Given the description of an element on the screen output the (x, y) to click on. 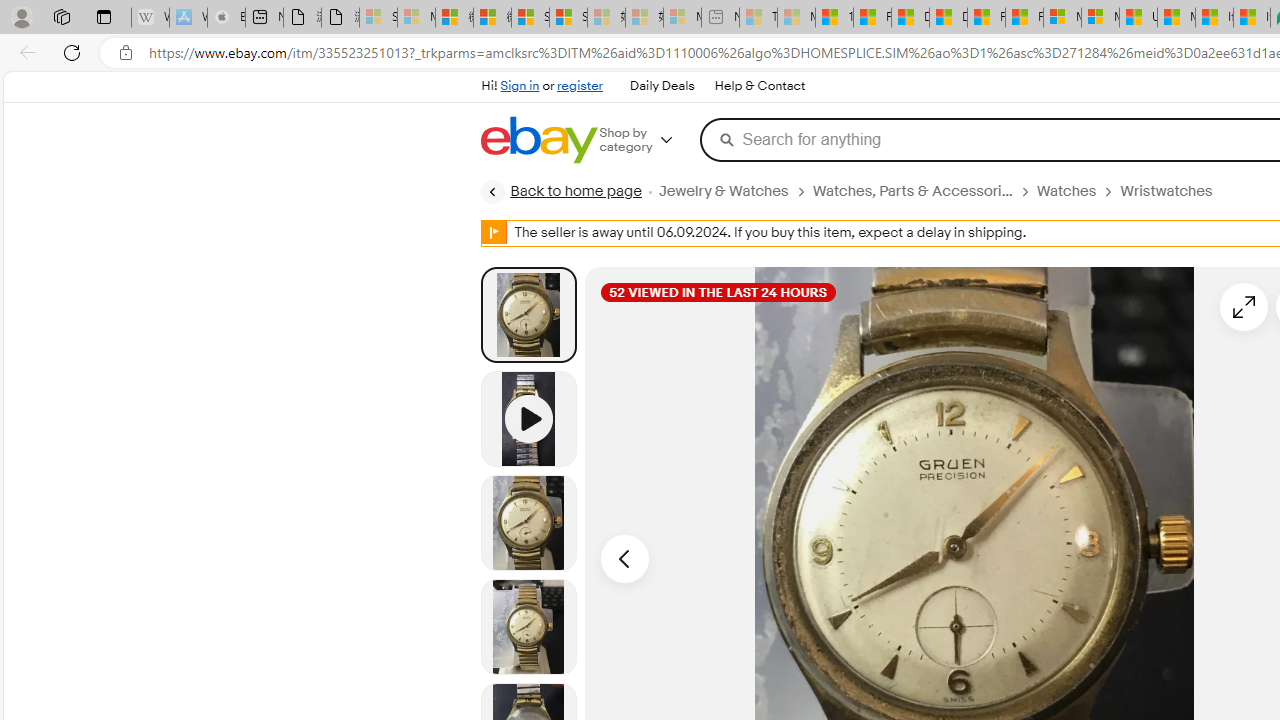
Watches, Parts & Accessories (911, 191)
Video 1 of 1 (528, 417)
Sign in to your Microsoft account - Sleeping (377, 17)
Foo BAR | Trusted Community Engagement and Contributions (1024, 17)
Microsoft Services Agreement - Sleeping (416, 17)
WARNING (493, 232)
Opens image gallery (1243, 306)
Picture 3 of 13 (528, 625)
Wristwatches (1166, 191)
Food and Drink - MSN (871, 17)
Watches (1078, 191)
Watches (1065, 191)
